Given the description of an element on the screen output the (x, y) to click on. 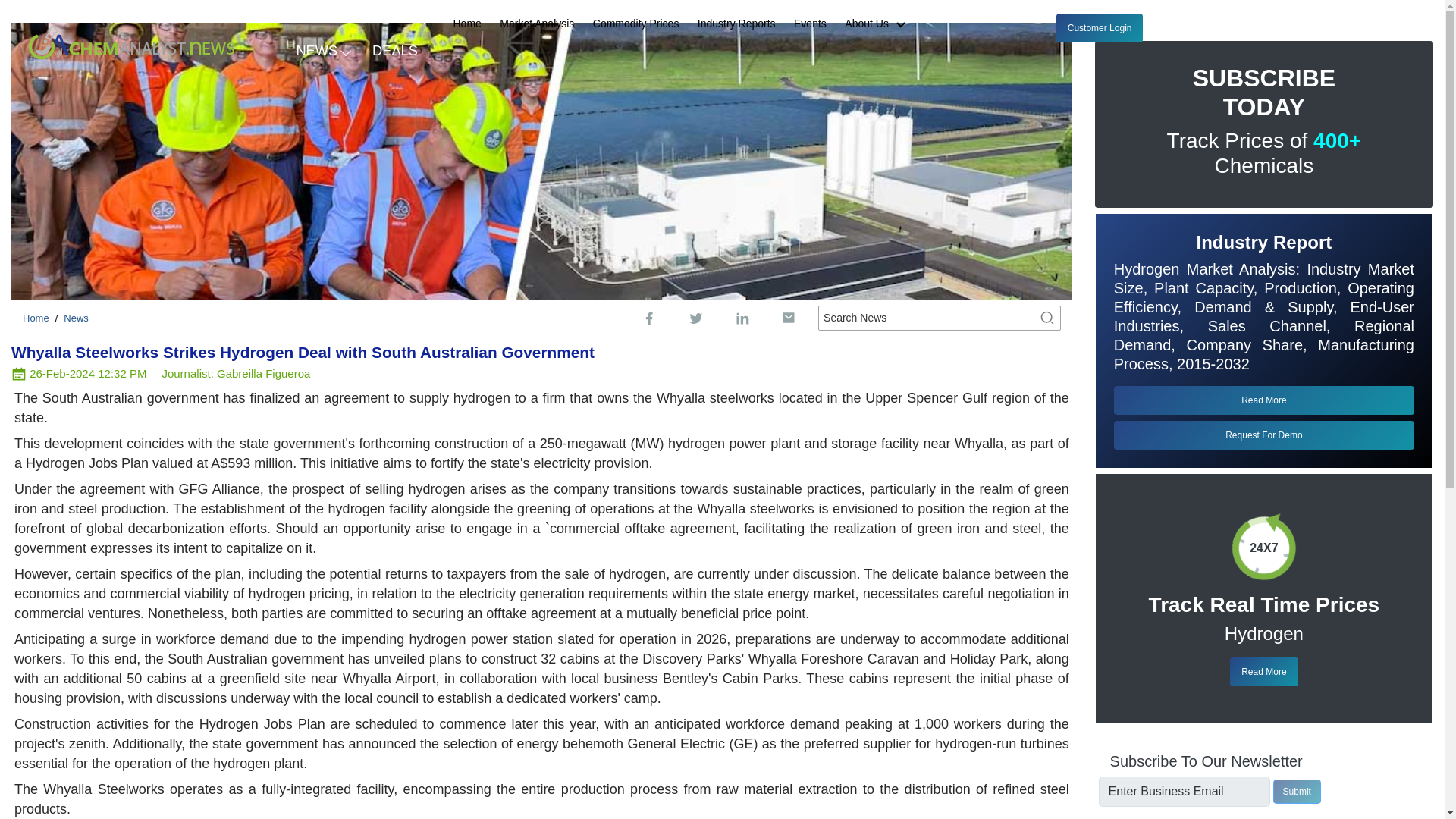
Customer Login (1099, 27)
About Us (880, 24)
DEALS (395, 49)
Industry Reports (736, 23)
Home (467, 23)
NEWS (322, 49)
Home (36, 317)
Commodity Prices (636, 23)
Market Analysis (536, 23)
Submit (1296, 791)
